Given the description of an element on the screen output the (x, y) to click on. 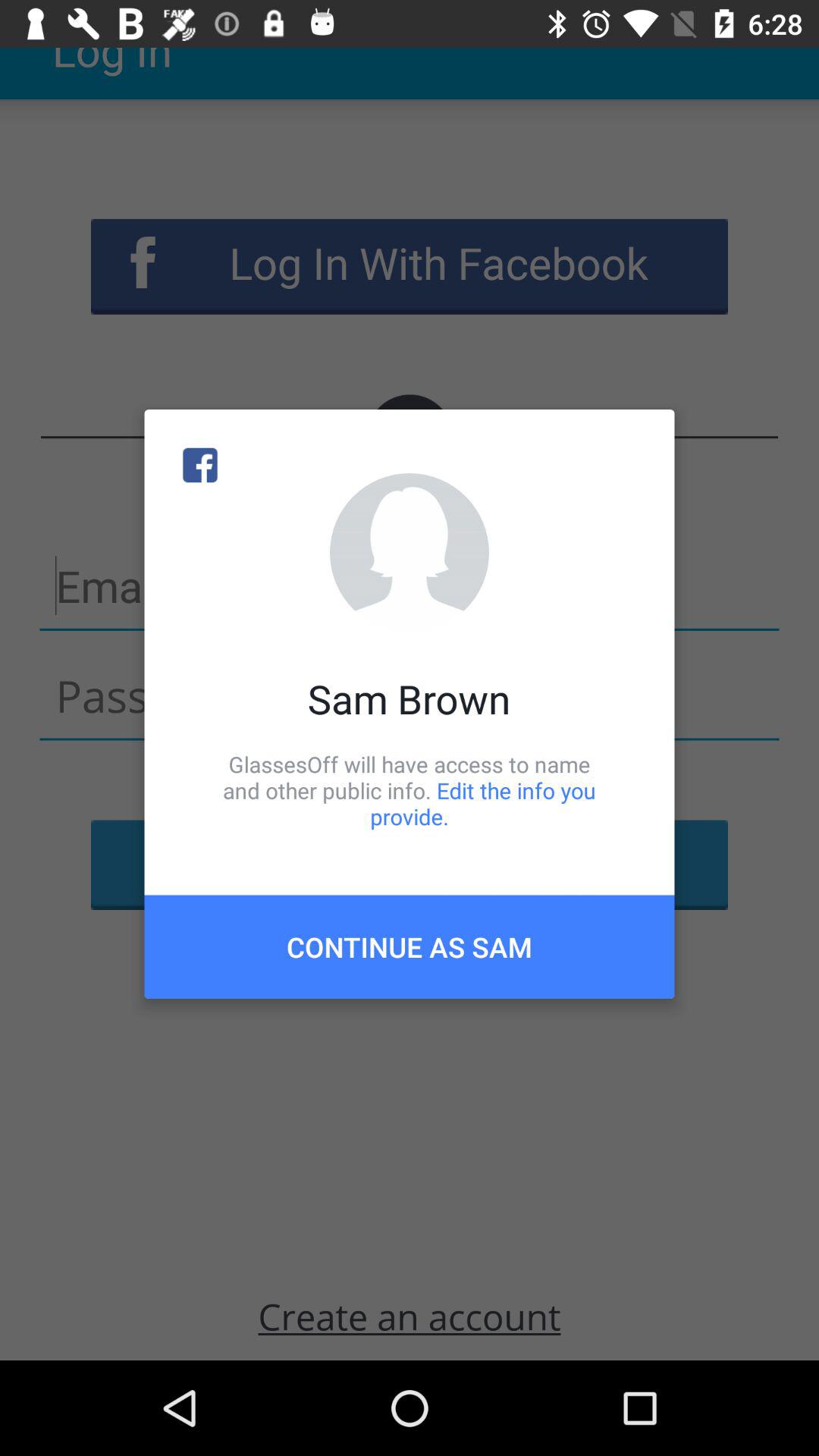
swipe until the glassesoff will have icon (409, 790)
